Given the description of an element on the screen output the (x, y) to click on. 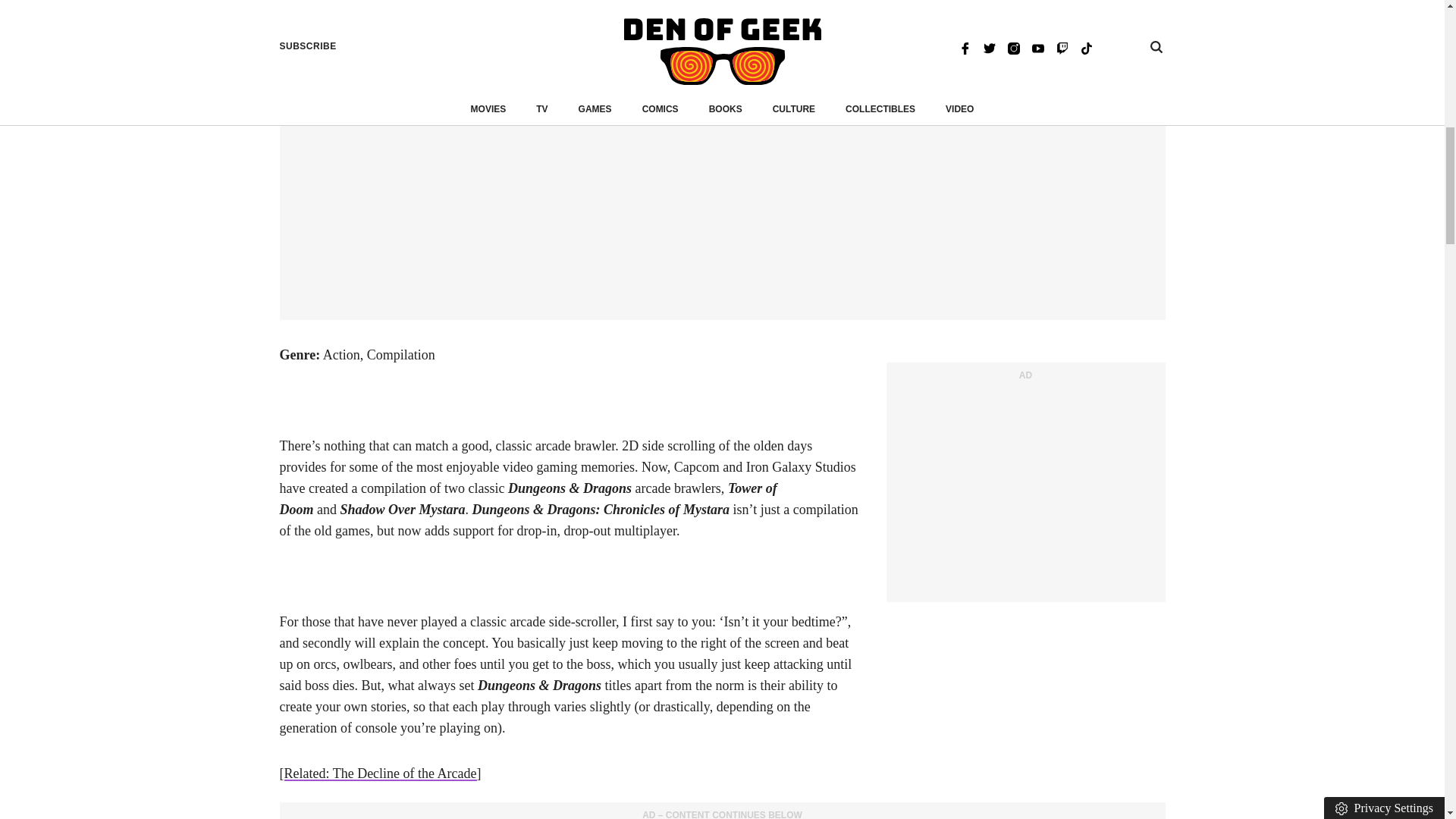
Related: The Decline of the Arcade (379, 773)
